Given the description of an element on the screen output the (x, y) to click on. 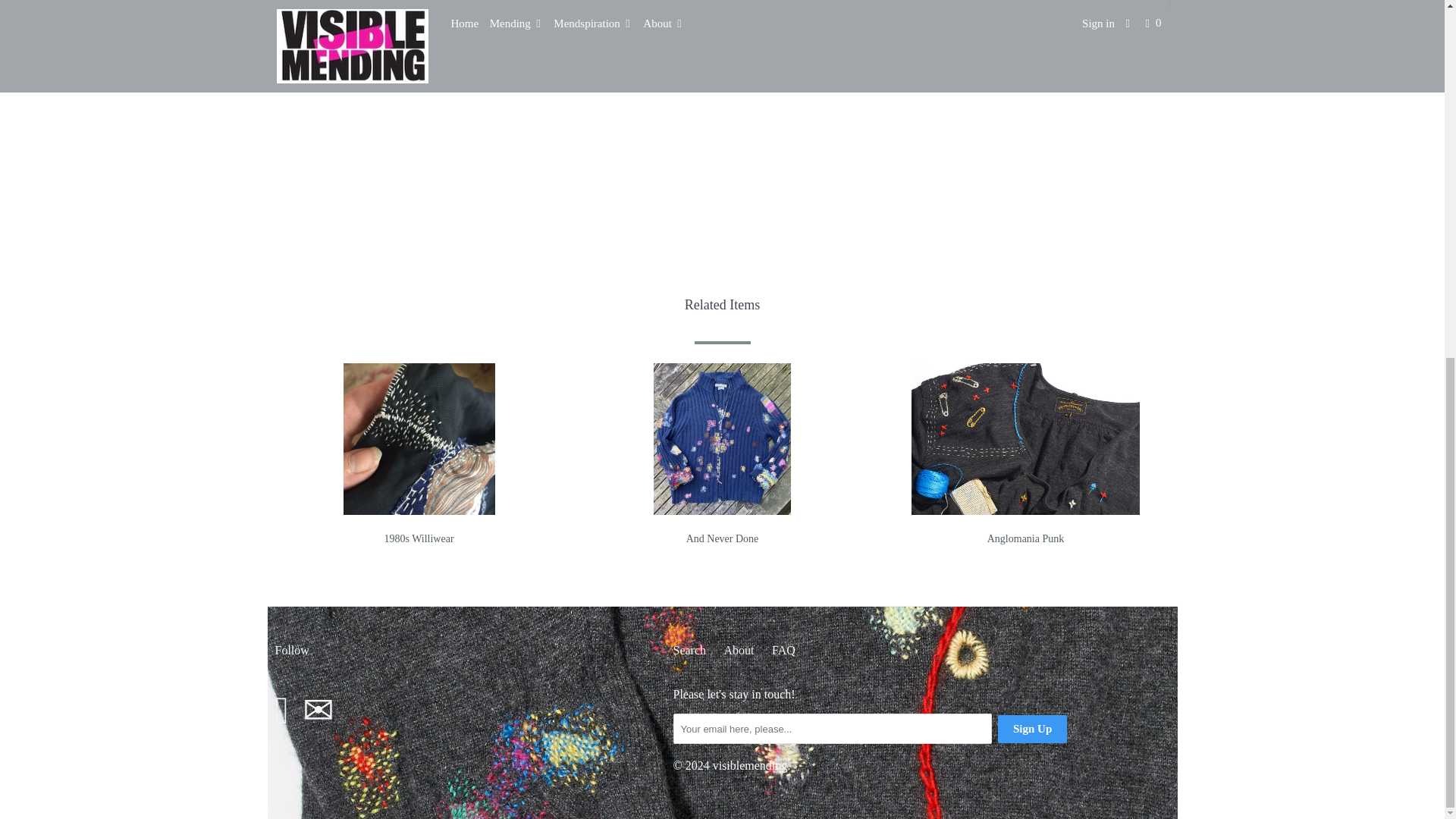
Sign Up (1032, 728)
